Given the description of an element on the screen output the (x, y) to click on. 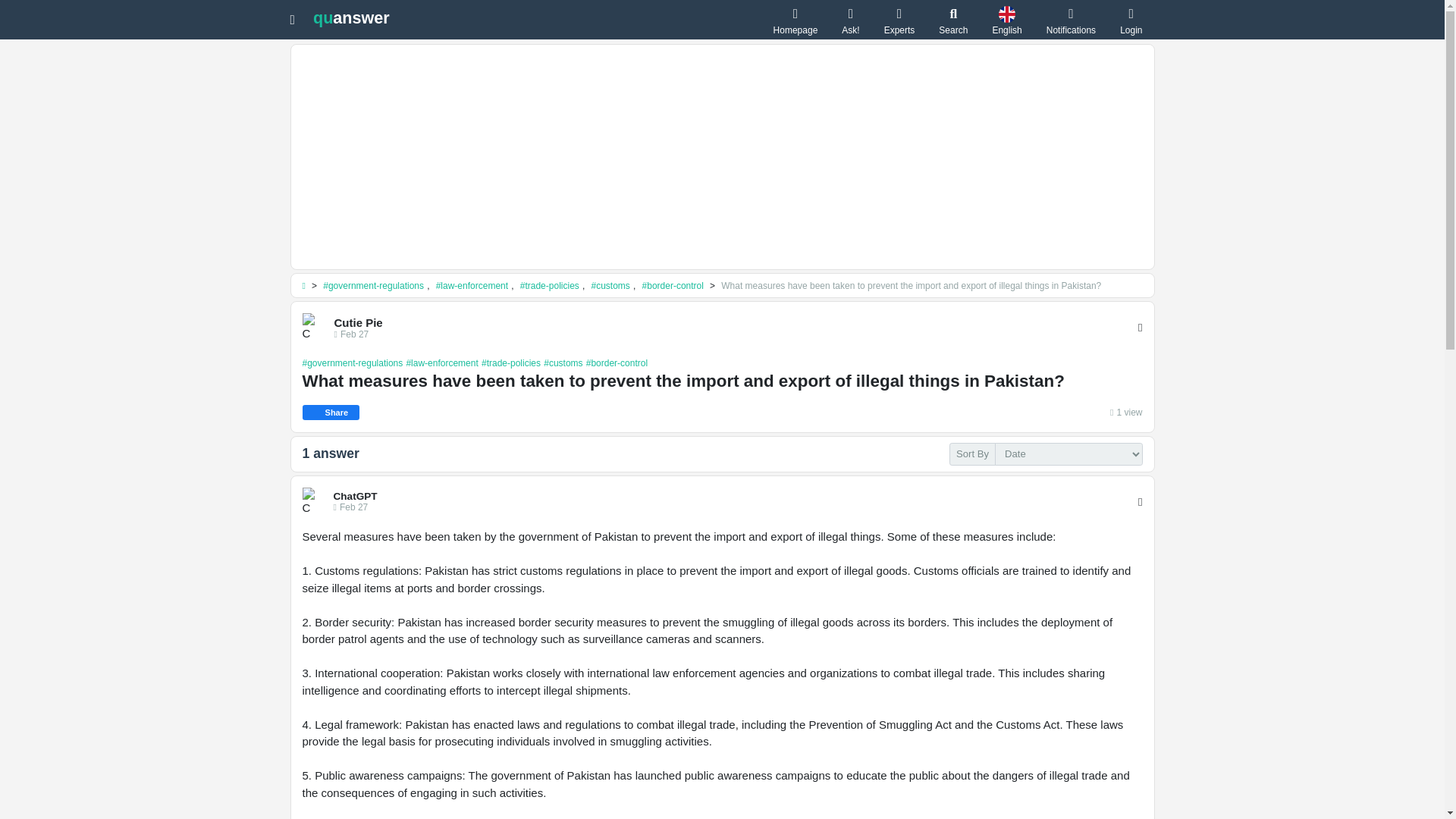
quanswer (351, 17)
English (1006, 19)
Homepage (795, 19)
Notifications (1071, 19)
Experts (899, 19)
Search (953, 19)
Share (330, 412)
